Given the description of an element on the screen output the (x, y) to click on. 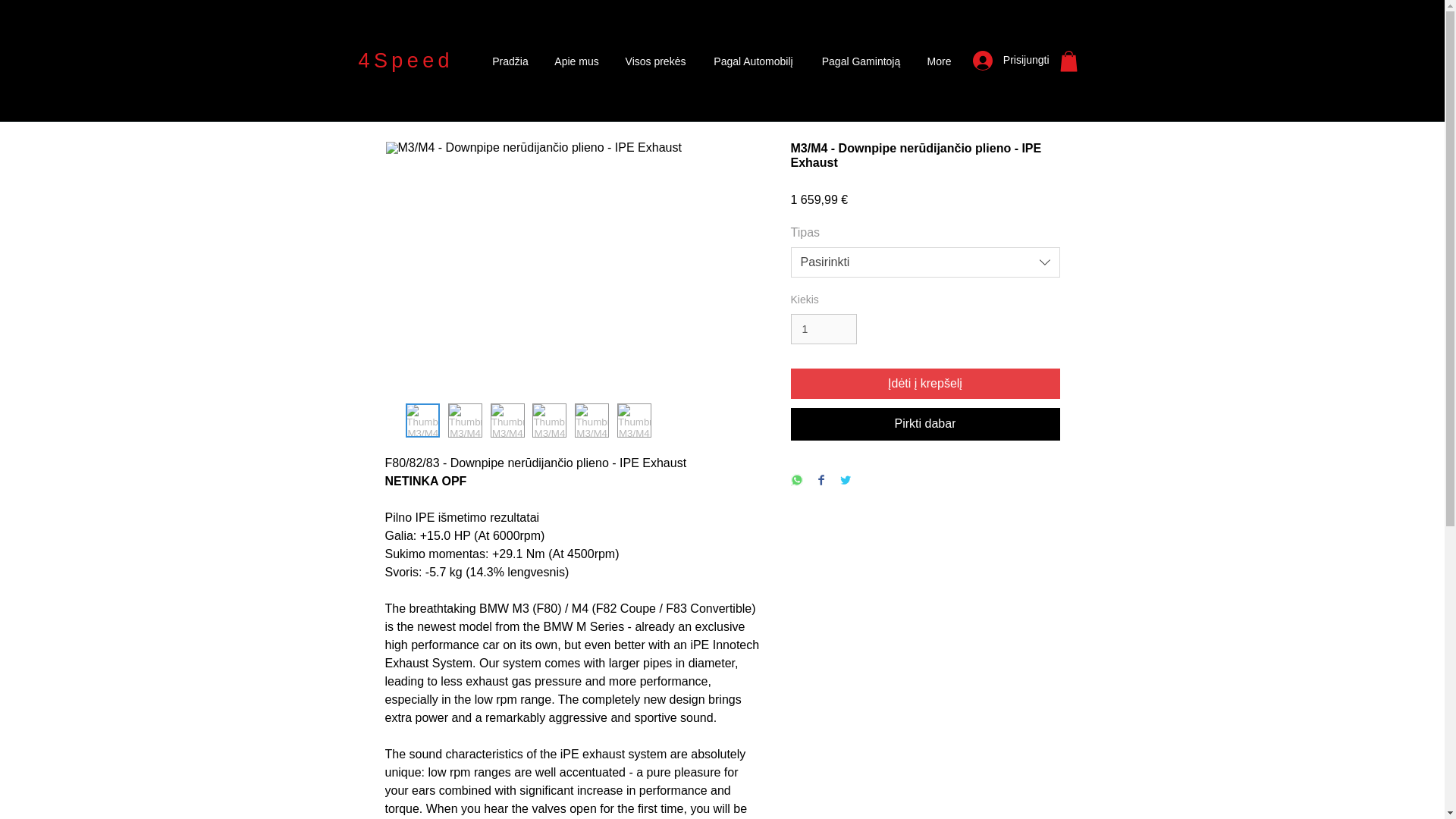
Apie mus (576, 61)
Prisijungti (1010, 60)
1 (823, 328)
Pirkti dabar (924, 423)
Pasirinkti (924, 262)
4Speed (405, 60)
